Given the description of an element on the screen output the (x, y) to click on. 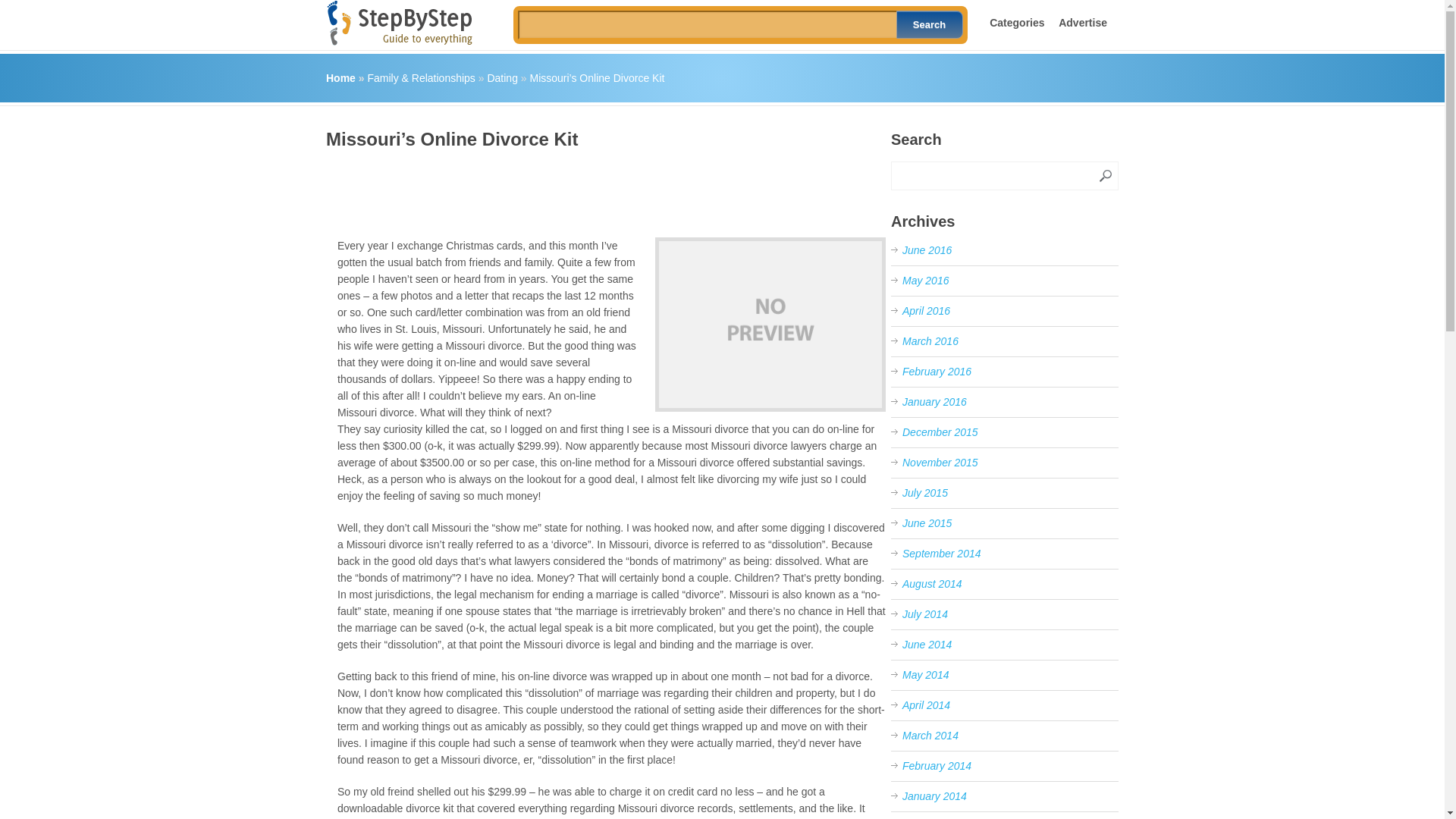
June 2015 (927, 522)
Advertisement (601, 187)
December 2015 (940, 431)
February 2016 (936, 371)
Dating (501, 78)
November 2015 (940, 462)
May 2016 (925, 280)
June 2016 (927, 250)
Search (929, 24)
March 2016 (930, 340)
September 2014 (941, 553)
Search (929, 24)
Advertise (1082, 22)
Categories (1016, 22)
Home (340, 78)
